Given the description of an element on the screen output the (x, y) to click on. 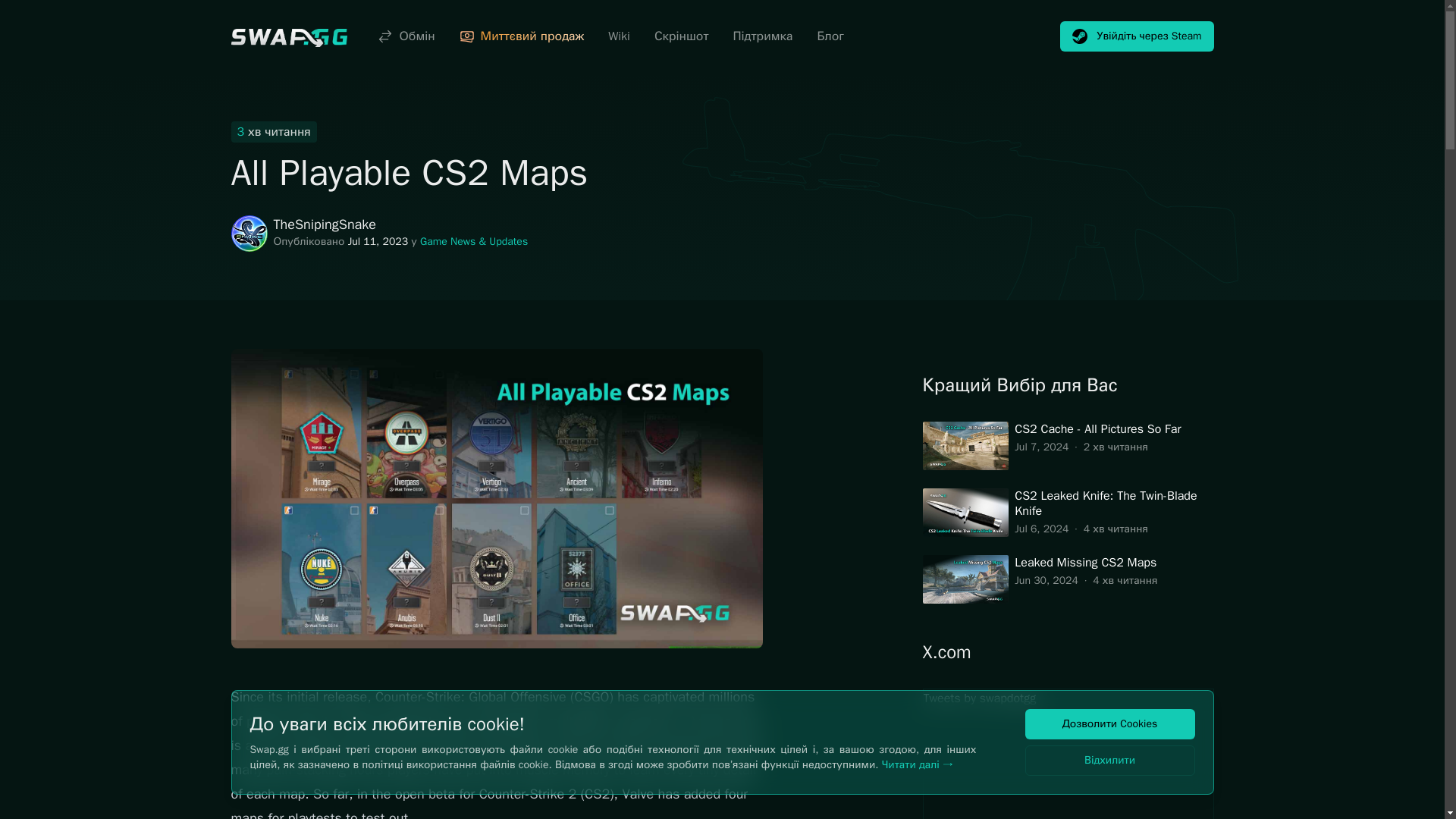
Wiki (619, 36)
Swap.gg (288, 36)
Tweets by swapdotgg (1066, 753)
Tweets by swapdotgg (979, 698)
